Given the description of an element on the screen output the (x, y) to click on. 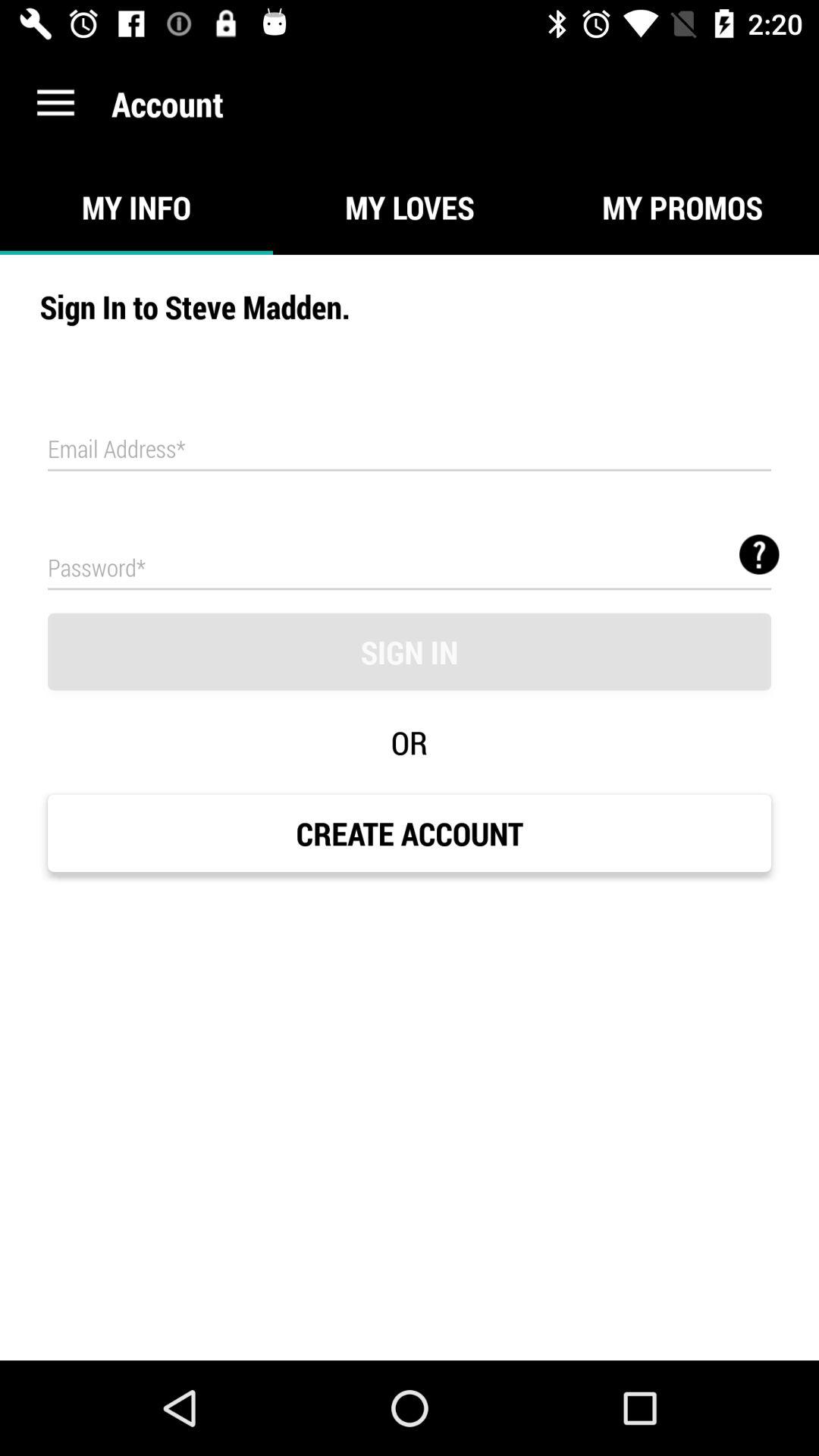
add your password (409, 566)
